Given the description of an element on the screen output the (x, y) to click on. 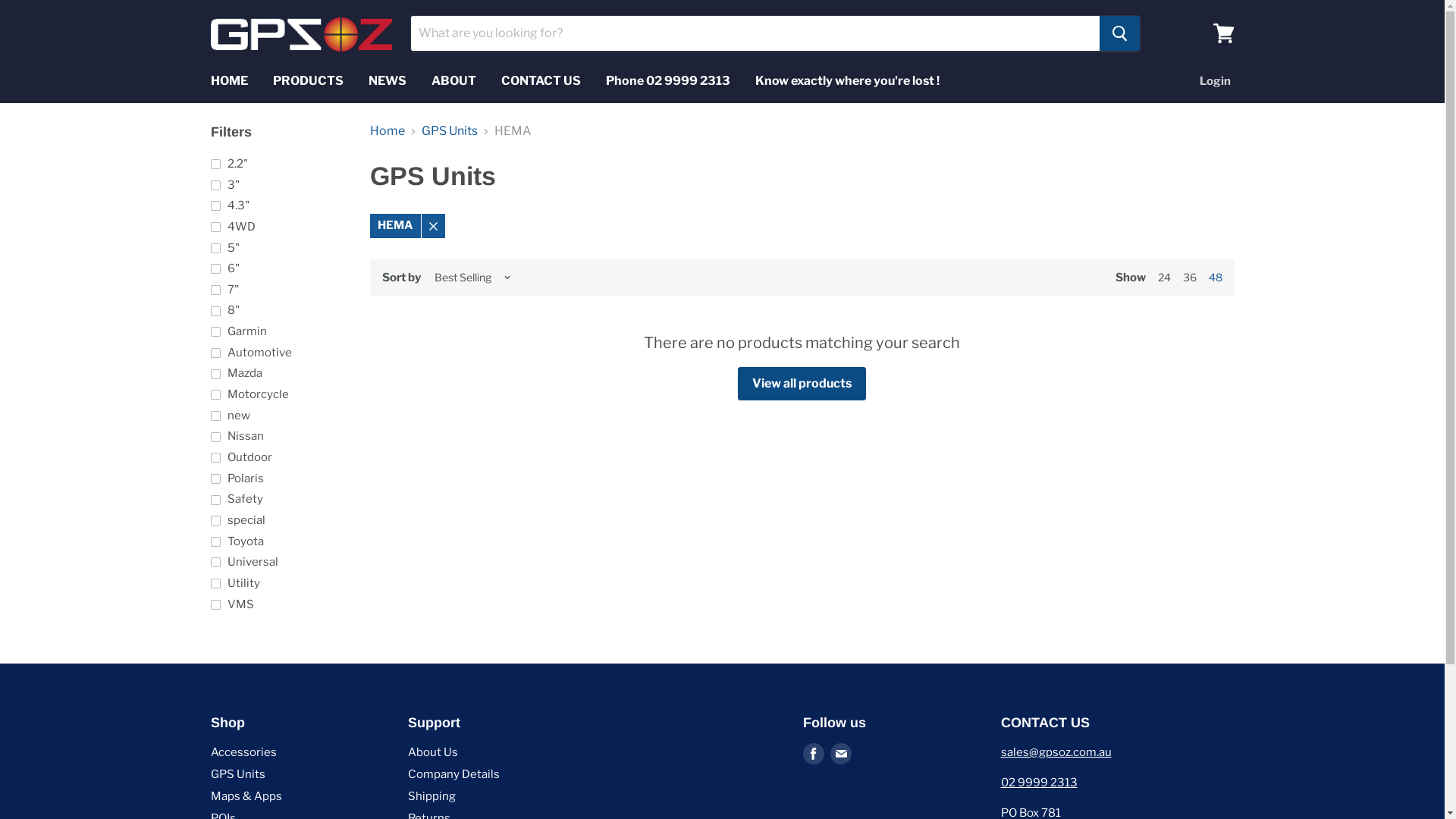
Mazda Element type: text (278, 373)
sales@gpsoz.com.au Element type: text (1056, 752)
Garmin Element type: text (278, 332)
Company Details Element type: text (453, 774)
View cart Element type: text (1223, 32)
Know exactly where you're lost ! Element type: text (846, 81)
Motorcycle Element type: text (278, 394)
Outdoor Element type: text (278, 457)
36 Element type: text (1189, 276)
4WD Element type: text (278, 226)
2.2" Element type: text (278, 163)
Login Element type: text (1214, 81)
special Element type: text (278, 520)
Automotive Element type: text (278, 352)
Universal Element type: text (278, 562)
Find us on E-mail Element type: text (840, 753)
Shipping Element type: text (431, 796)
3" Element type: text (278, 184)
4.3" Element type: text (278, 206)
Nissan Element type: text (278, 436)
02 9999 2313 Element type: text (1039, 782)
View all products Element type: text (801, 383)
5" Element type: text (278, 247)
Home Element type: text (387, 131)
About Us Element type: text (432, 752)
7" Element type: text (278, 289)
8" Element type: text (278, 310)
Accessories Element type: text (243, 752)
CONTACT US Element type: text (540, 81)
48 Element type: text (1215, 276)
Phone 02 9999 2313 Element type: text (667, 81)
Polaris Element type: text (278, 478)
GPS Units Element type: text (237, 774)
Utility Element type: text (278, 583)
VMS Element type: text (278, 604)
HOME Element type: text (228, 81)
HEMA
Remove filter Element type: text (407, 225)
Find us on Facebook Element type: text (813, 753)
PRODUCTS Element type: text (307, 81)
NEWS Element type: text (386, 81)
24 Element type: text (1163, 276)
new Element type: text (278, 415)
Toyota Element type: text (278, 541)
GPS Units Element type: text (449, 131)
ABOUT Element type: text (453, 81)
Safety Element type: text (278, 499)
6" Element type: text (278, 269)
Maps & Apps Element type: text (246, 796)
